Given the description of an element on the screen output the (x, y) to click on. 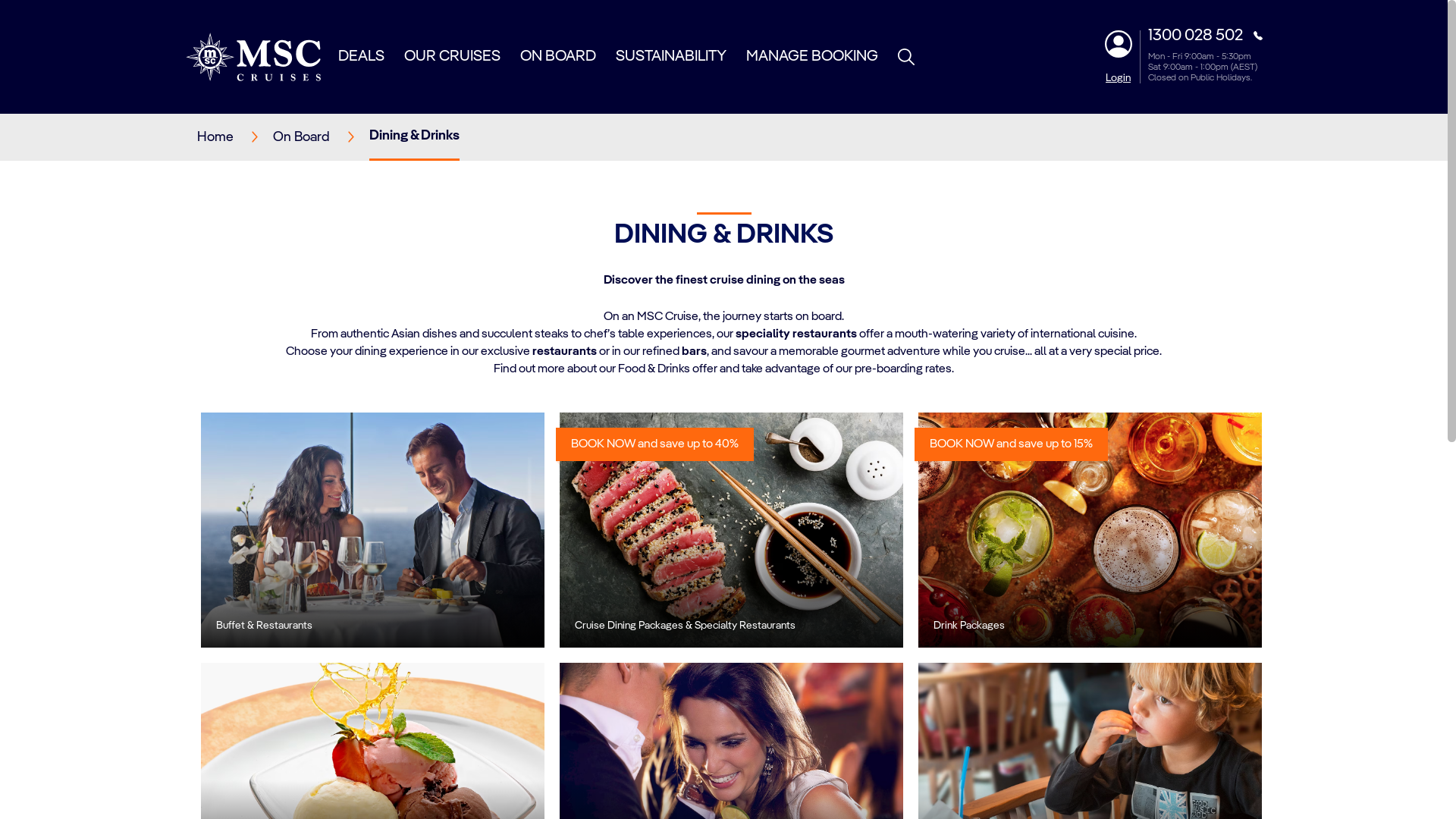
1300 028 502 Element type: text (1205, 35)
On Board Element type: text (321, 137)
SUSTAINABILITY Element type: text (670, 56)
ON BOARD Element type: text (558, 56)
DEALS Element type: text (361, 56)
BOOK NOW and save up to 15%
Drink Packages Element type: text (1089, 529)
Premium plus package MSC Cruises Element type: hover (1089, 529)
Login Element type: text (1117, 77)
OUR CRUISES Element type: text (451, 56)
galaxy sushi msc preziosa Element type: hover (731, 529)
Search Element type: text (1073, 155)
Buffet and Restaurants | MSC Cruises Element type: hover (371, 529)
msc cruises logo Element type: hover (252, 56)
MANAGE BOOKING Element type: text (812, 56)
Buffet & Restaurants Element type: text (371, 529)
Home Element type: text (235, 137)
Dining & Drinks Element type: text (413, 135)
